Given the description of an element on the screen output the (x, y) to click on. 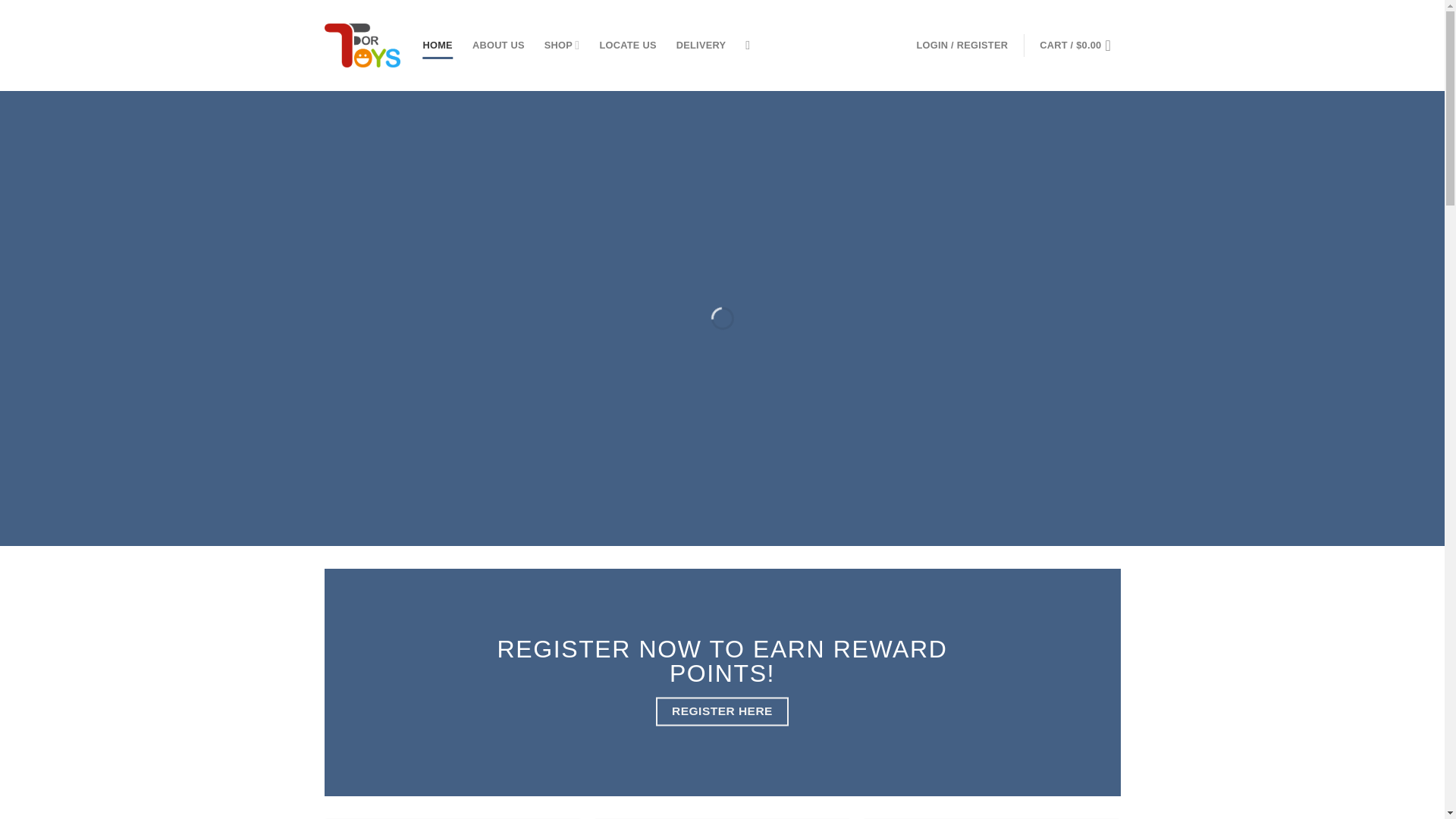
REGISTER HERE (721, 711)
T For Toys - T For Toys (362, 45)
LOCATE US (627, 44)
ABOUT US (497, 44)
SHOP (561, 44)
Cart (1079, 45)
HOME (437, 44)
DELIVERY (701, 44)
